Given the description of an element on the screen output the (x, y) to click on. 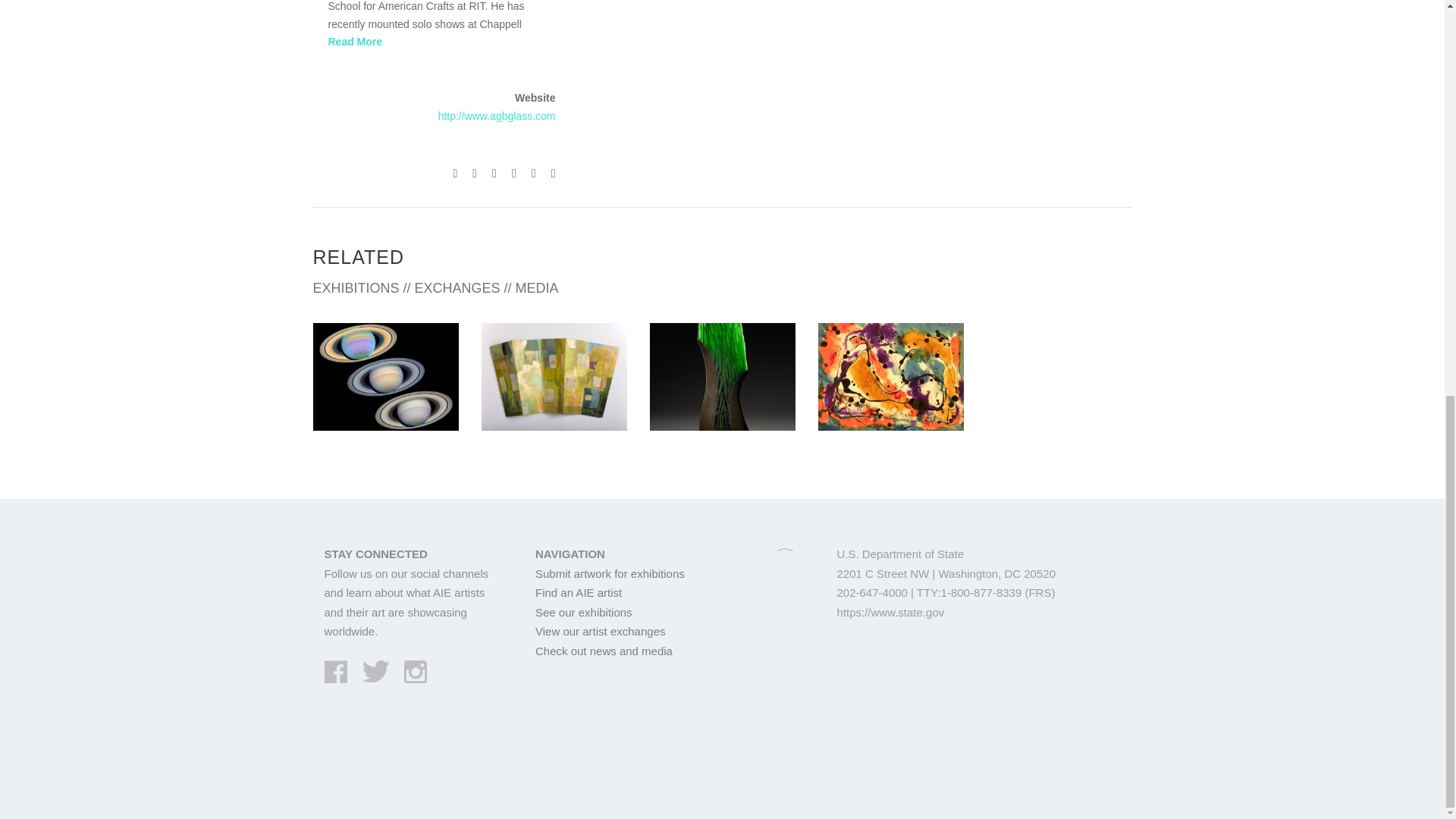
Read More (354, 41)
